Given the description of an element on the screen output the (x, y) to click on. 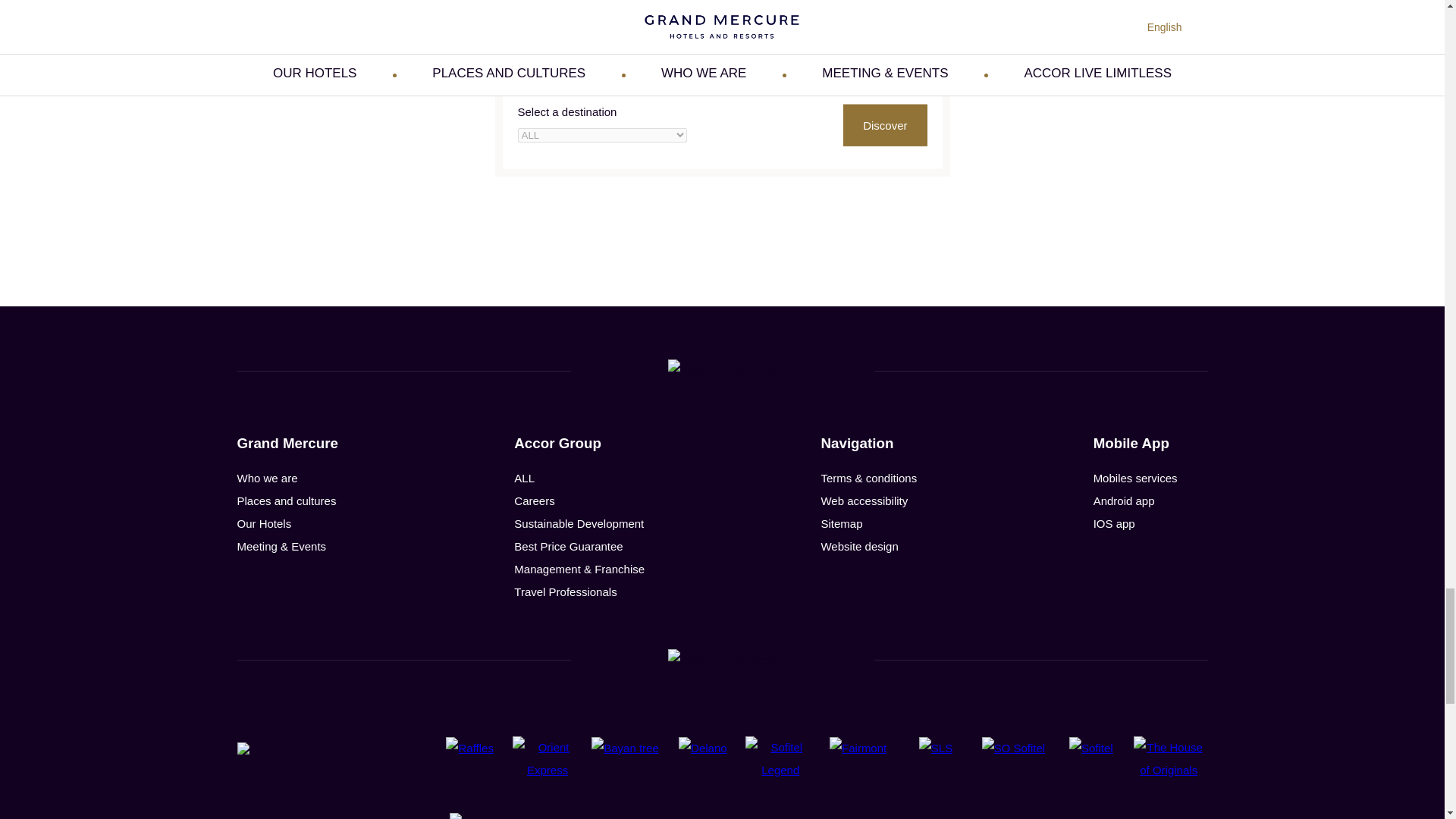
New Window Accor (579, 443)
New Window Careers (533, 500)
New window website design (859, 545)
New window travel professionals (564, 591)
New Window Sustainable Development (578, 522)
New Window Loyalty (523, 477)
New Window Best Price Guarantee (568, 545)
